Given the description of an element on the screen output the (x, y) to click on. 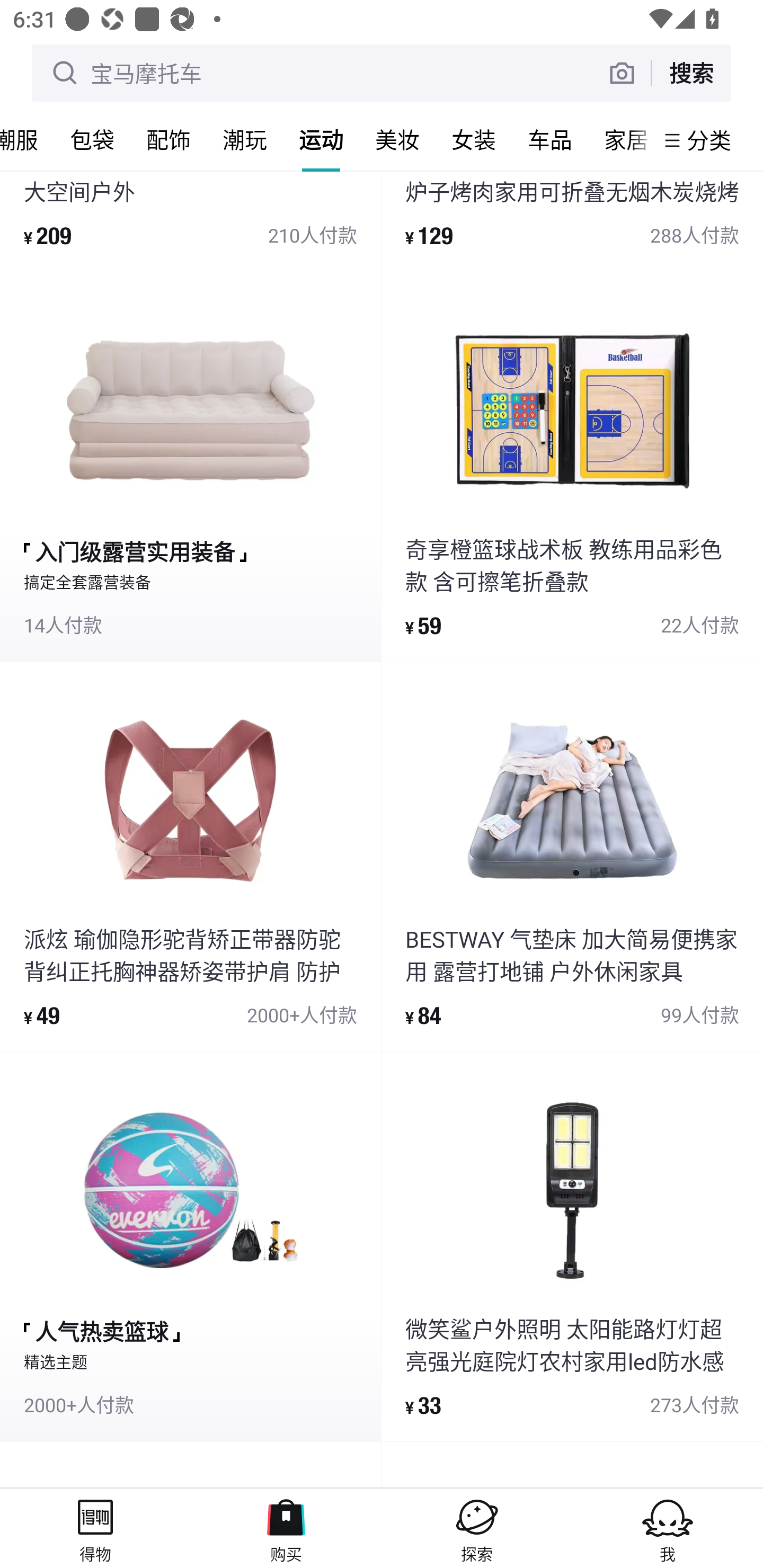
搜索 (690, 72)
潮服 (27, 139)
包袋 (92, 139)
配饰 (168, 139)
潮玩 (244, 139)
运动 (321, 139)
美妆 (397, 139)
女装 (473, 139)
车品 (549, 139)
家居 (621, 139)
分类 (708, 139)
入门级露营实用装备 搞定全套露营装备 14人付款 (190, 466)
product_item 奇享橙篮球战术板 教练用品彩色
款 含可擦笔折叠款 ¥ 59 22人付款 (572, 466)
人气热卖篮球 精选主题 2000+人付款 (190, 1246)
得物 (95, 1528)
购买 (285, 1528)
探索 (476, 1528)
我 (667, 1528)
